Given the description of an element on the screen output the (x, y) to click on. 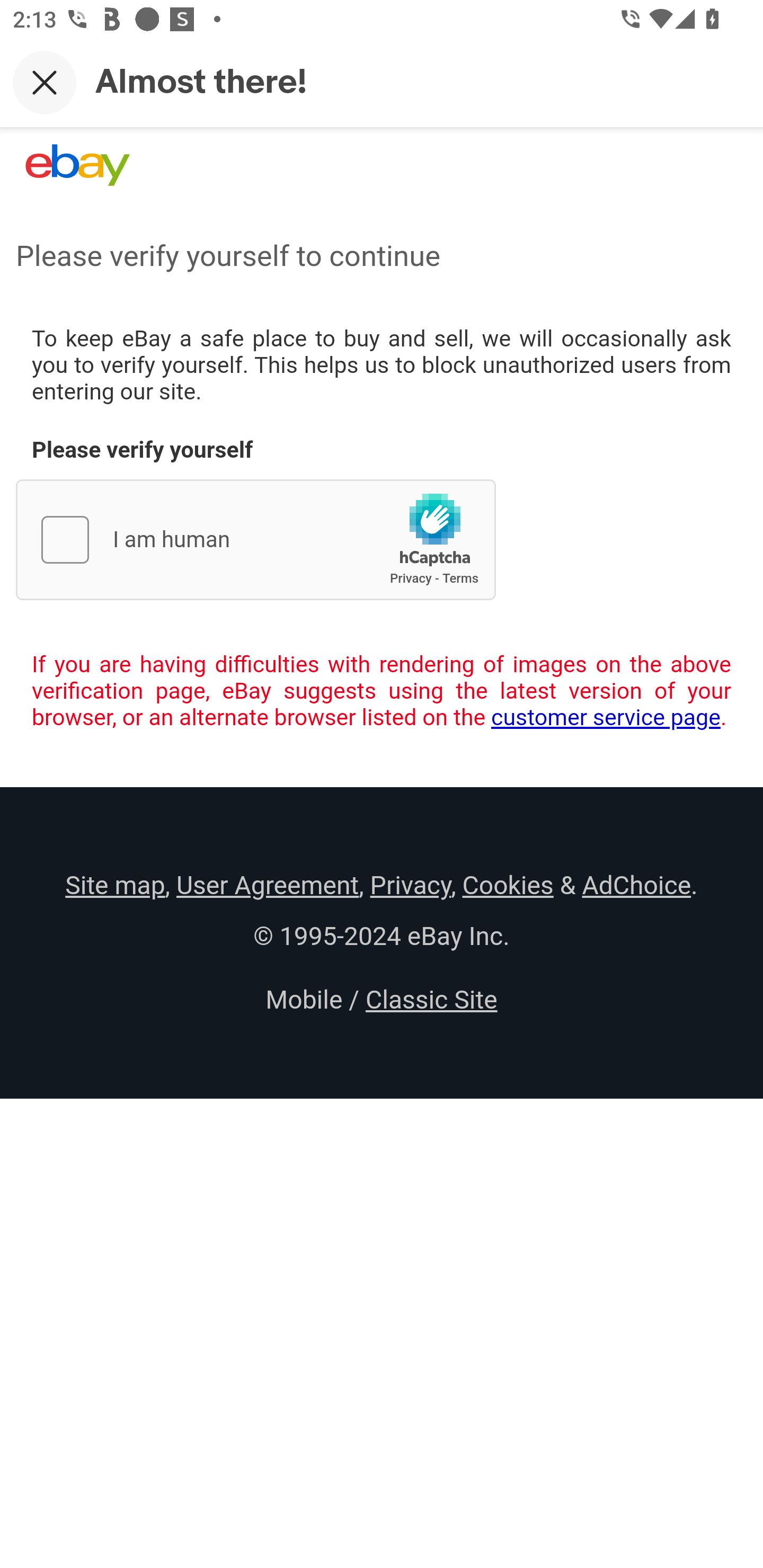
Close (44, 82)
eBay Home (77, 165)
hCaptcha Privacy Policy Privacy (410, 578)
hCaptcha Terms of Service Terms (459, 578)
customer service page (605, 717)
Site map (114, 884)
User Agreement (266, 884)
Privacy (409, 884)
Cookies (507, 884)
AdChoice (636, 884)
